Given the description of an element on the screen output the (x, y) to click on. 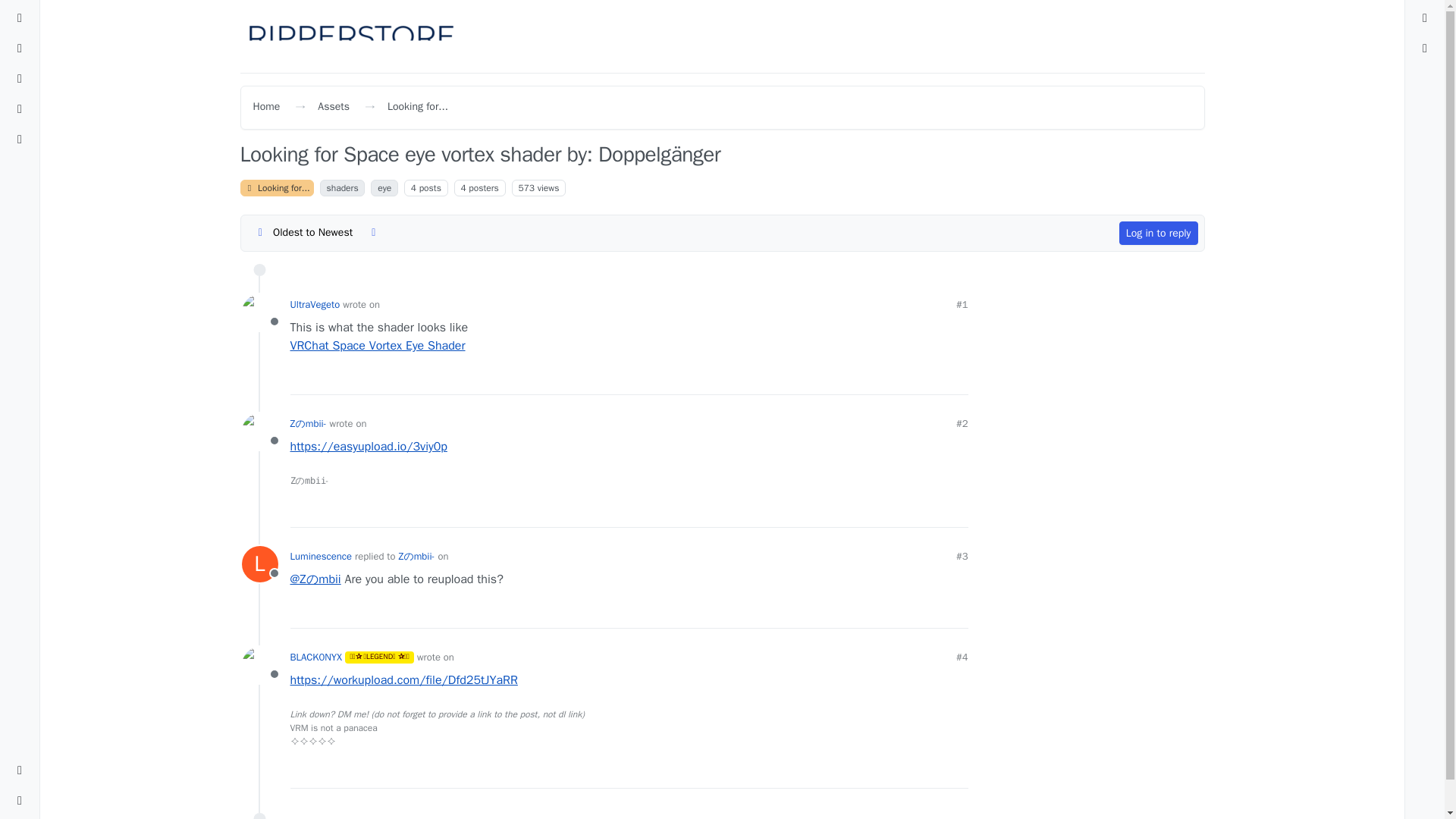
Looking for... (417, 106)
Popular (19, 109)
UltraVegeto (259, 312)
Brand Logo (351, 36)
Users (19, 139)
Assets (333, 106)
Expand (19, 800)
Skins (19, 770)
573 (526, 187)
Home (267, 106)
